Given the description of an element on the screen output the (x, y) to click on. 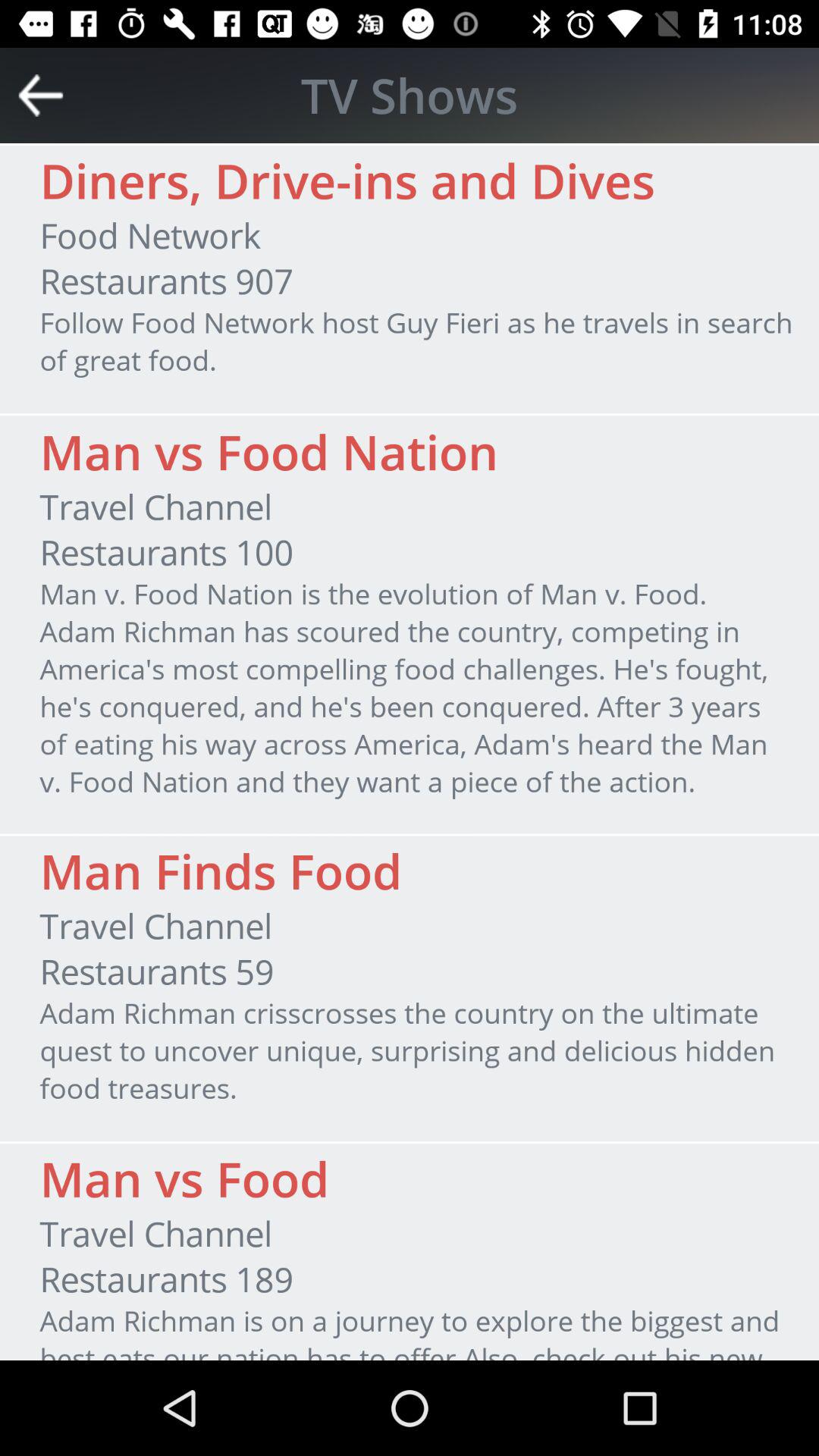
select the restaurants 59 icon (156, 971)
